Given the description of an element on the screen output the (x, y) to click on. 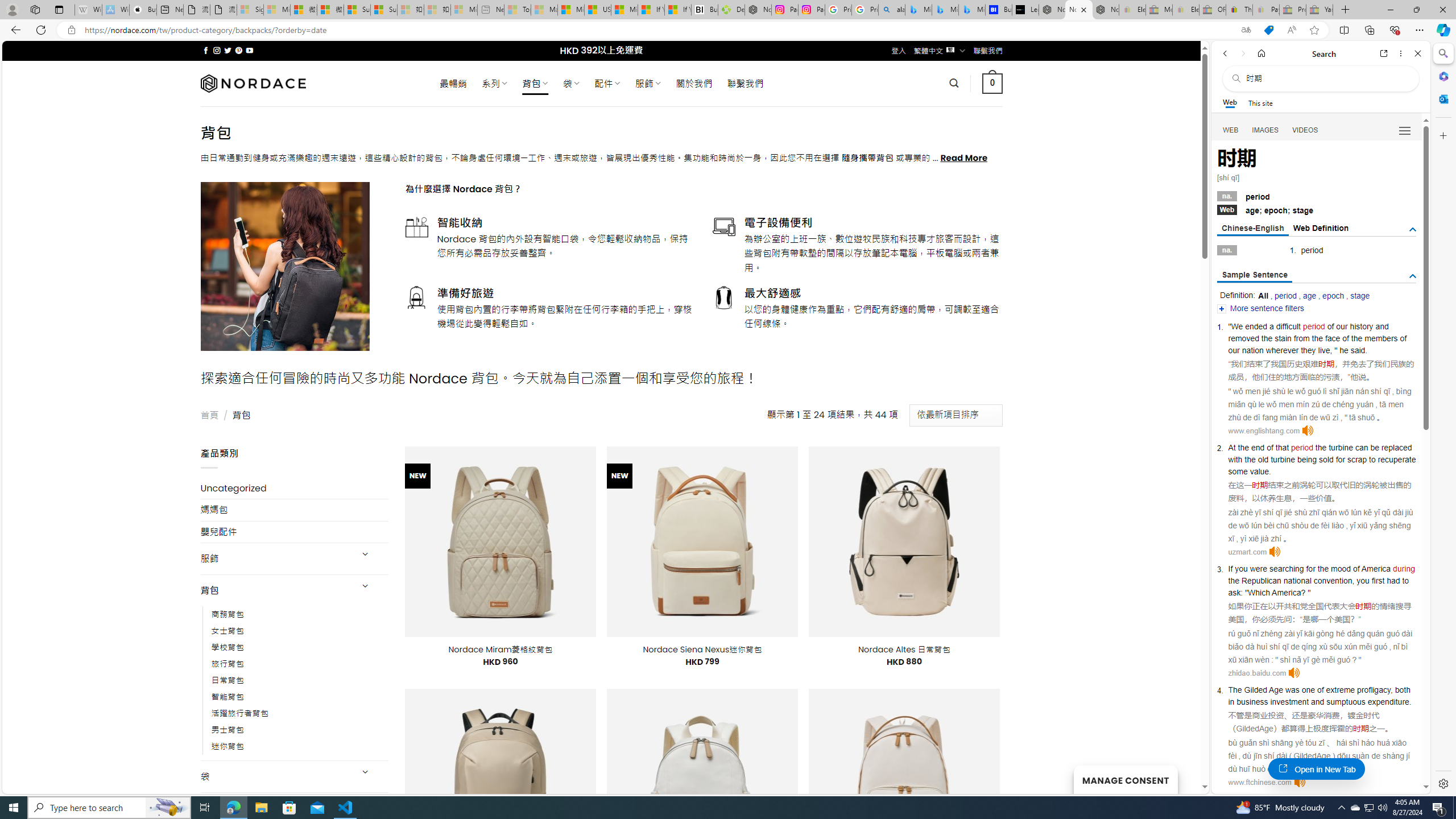
AutomationID: tgdef_sen (1412, 276)
VIDEOS (1304, 130)
Yard, Garden & Outdoor Living - Sleeping (1319, 9)
Payments Terms of Use | eBay.com - Sleeping (1265, 9)
he (1343, 349)
Microsoft 365 (1442, 76)
More options (1401, 53)
recuperate (1396, 459)
